Given the description of an element on the screen output the (x, y) to click on. 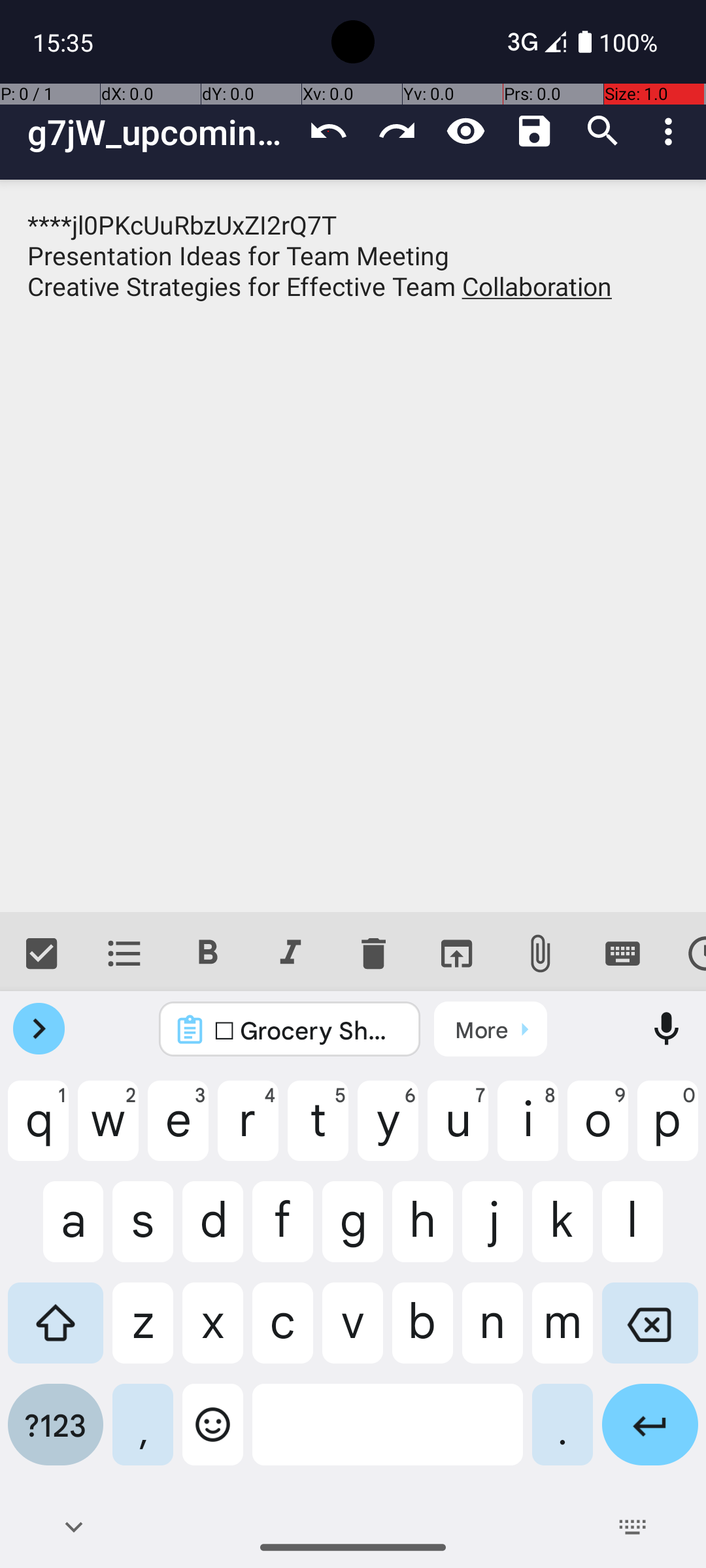
g7jW_upcoming_presentation_outline Element type: android.widget.TextView (160, 131)
****jl0PKcUuRbzUxZI2rQ7T
Presentation Ideas for Team Meeting
Creative Strategies for Effective Team Collaboration
 Element type: android.widget.EditText (353, 545)
☐ Grocery Shopping ☐ Call Grandma ☐ Attend Team Meeting ☐ Take Dog to the Vet ☐ Finish Project Proposal ☐ Water Plants ☐ Reply to Emails ☐ Change Air Filter ☐ Submit Expense Report ☐ Submit Budget Report ☑ Read 'The Martian' ☑ Grocery Shopping ☑ Submit Expense Report ☑ Brainstorm Blog Post Ideas ☑ Change Air Filter ☑ Research Vacation Destinations ☑ Finish Project Proposal ☑ Change Air Filter ☑ Take Dog to the Vet ☑ Submit Expense Report ☑ Learn to Play Guitar Element type: android.widget.TextView (306, 1029)
